Given the description of an element on the screen output the (x, y) to click on. 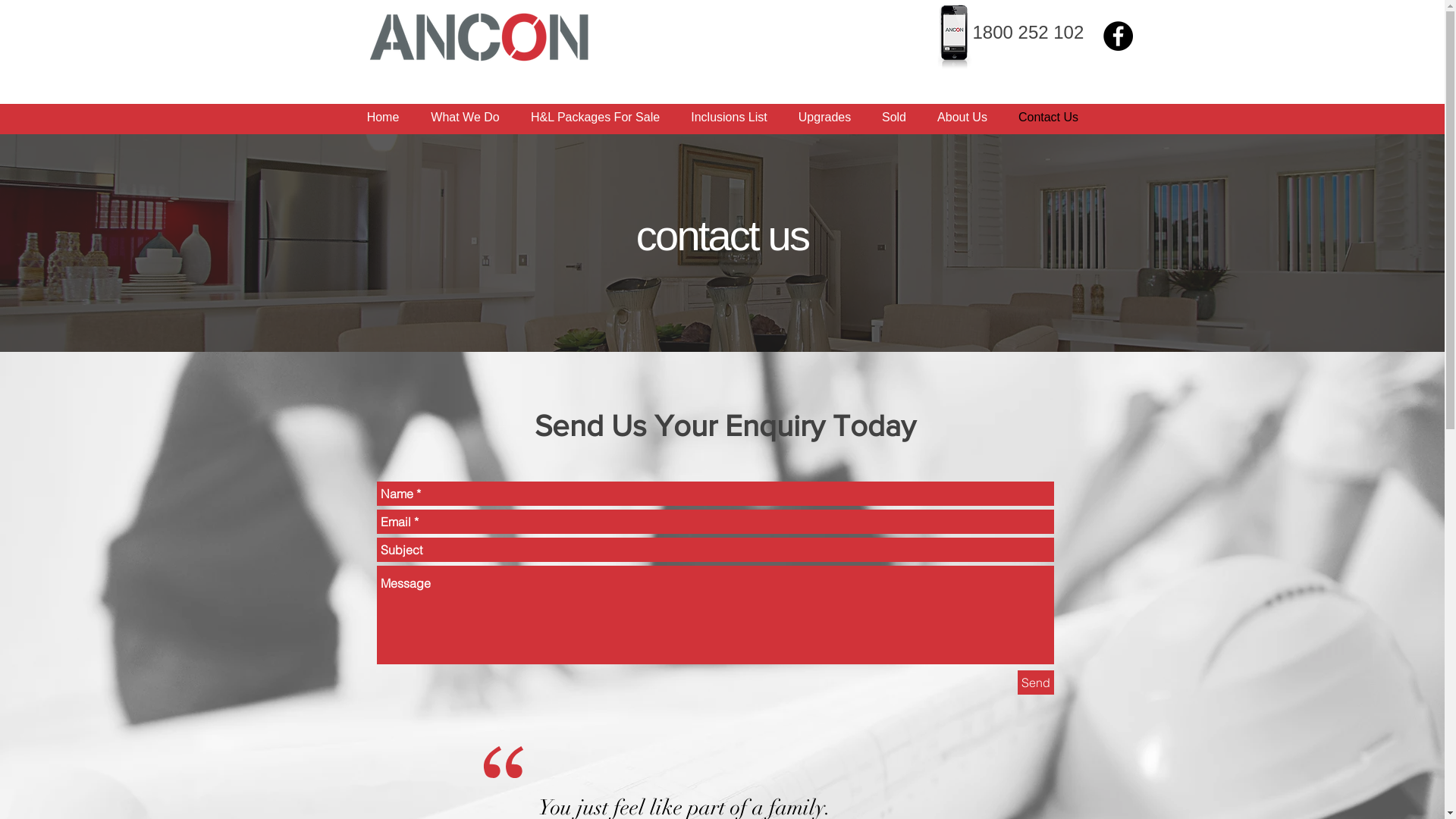
Upgrades Element type: text (824, 117)
Contact Us Element type: text (1047, 117)
Sold Element type: text (893, 117)
Home Element type: text (382, 117)
Inclusions List Element type: text (728, 117)
About Us Element type: text (962, 117)
Send Element type: text (1035, 682)
H&L Packages For Sale Element type: text (595, 117)
